Given the description of an element on the screen output the (x, y) to click on. 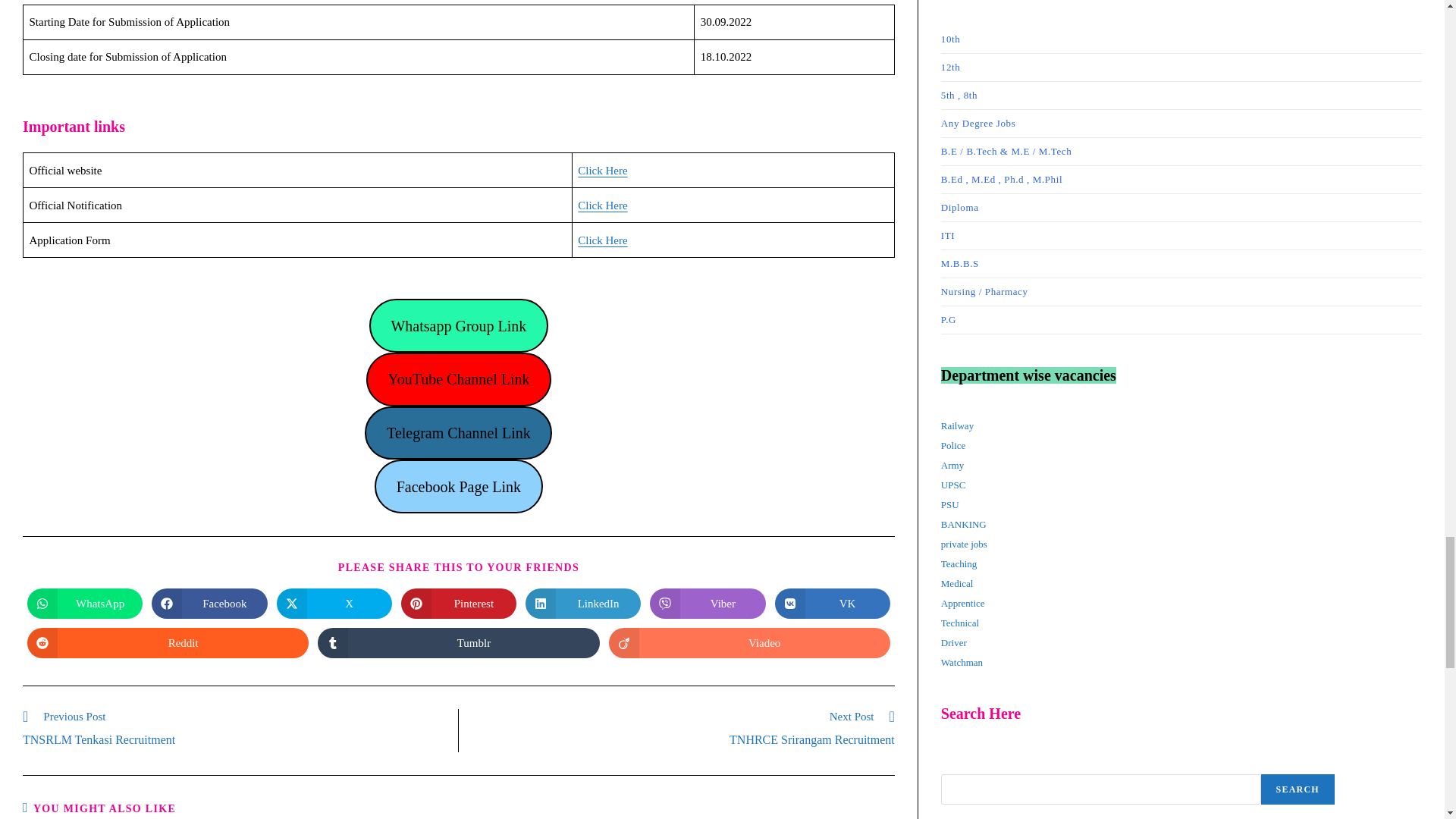
Click Here (167, 643)
Click Here (707, 603)
Facebook Page Link (602, 205)
